Given the description of an element on the screen output the (x, y) to click on. 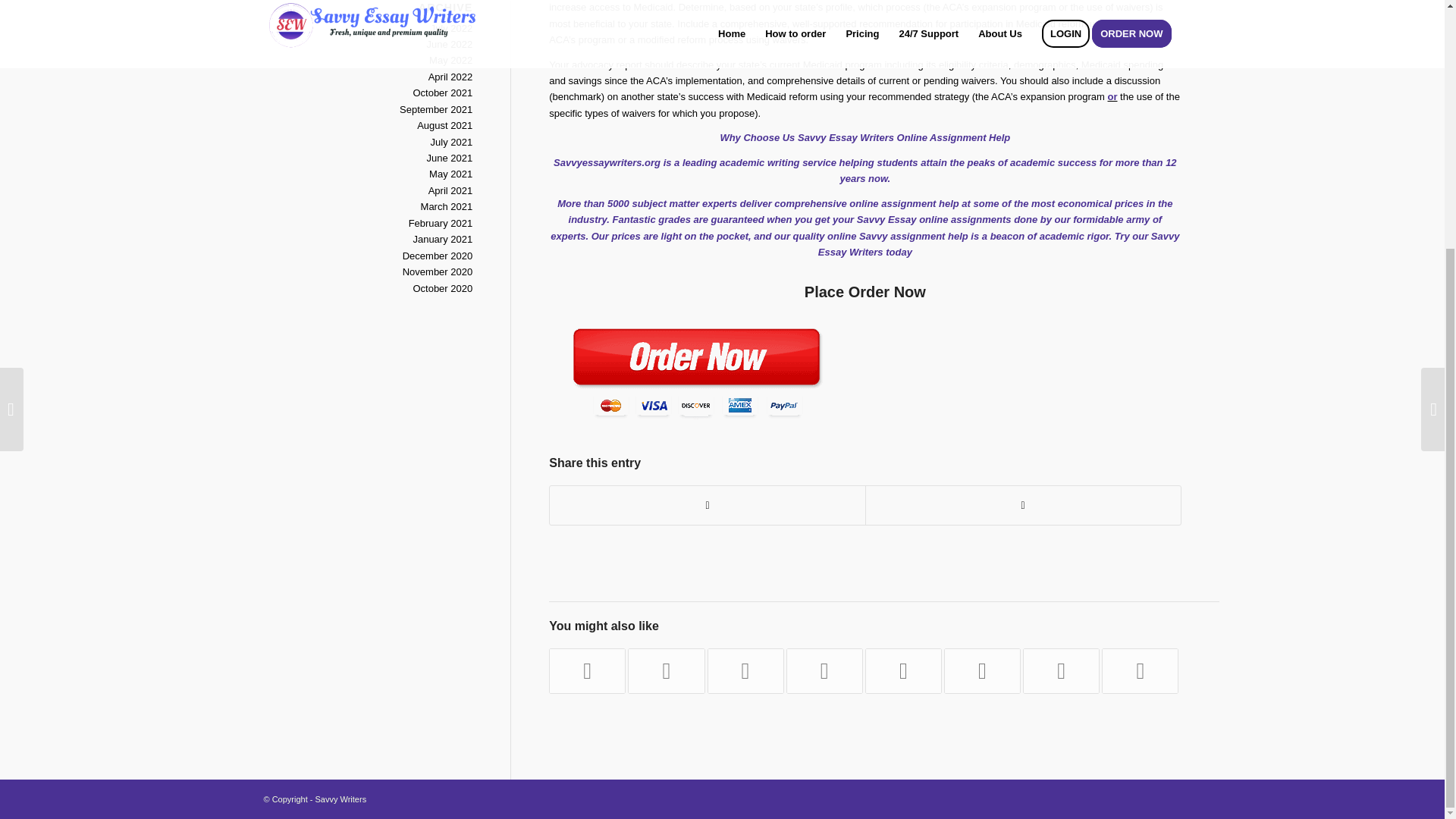
Melaluna Review Savvy Essay Writers (981, 670)
Assignment 2: Managerial Epidemiology Savvy Essay Writers (587, 670)
Try our (1131, 235)
June 2022 (448, 43)
July 2022 (451, 28)
Assignment Help (970, 137)
Place Order Now (865, 291)
May 2022 (450, 60)
more than 12 (1145, 162)
Unit 3 individual project Savvy Essay Writers (745, 670)
Visualizing Business Problems. Savvy Essay Writers (665, 670)
Chi Savvy Essay Writers (1139, 670)
reply to post Savvy Essay Writers (824, 670)
